Given the description of an element on the screen output the (x, y) to click on. 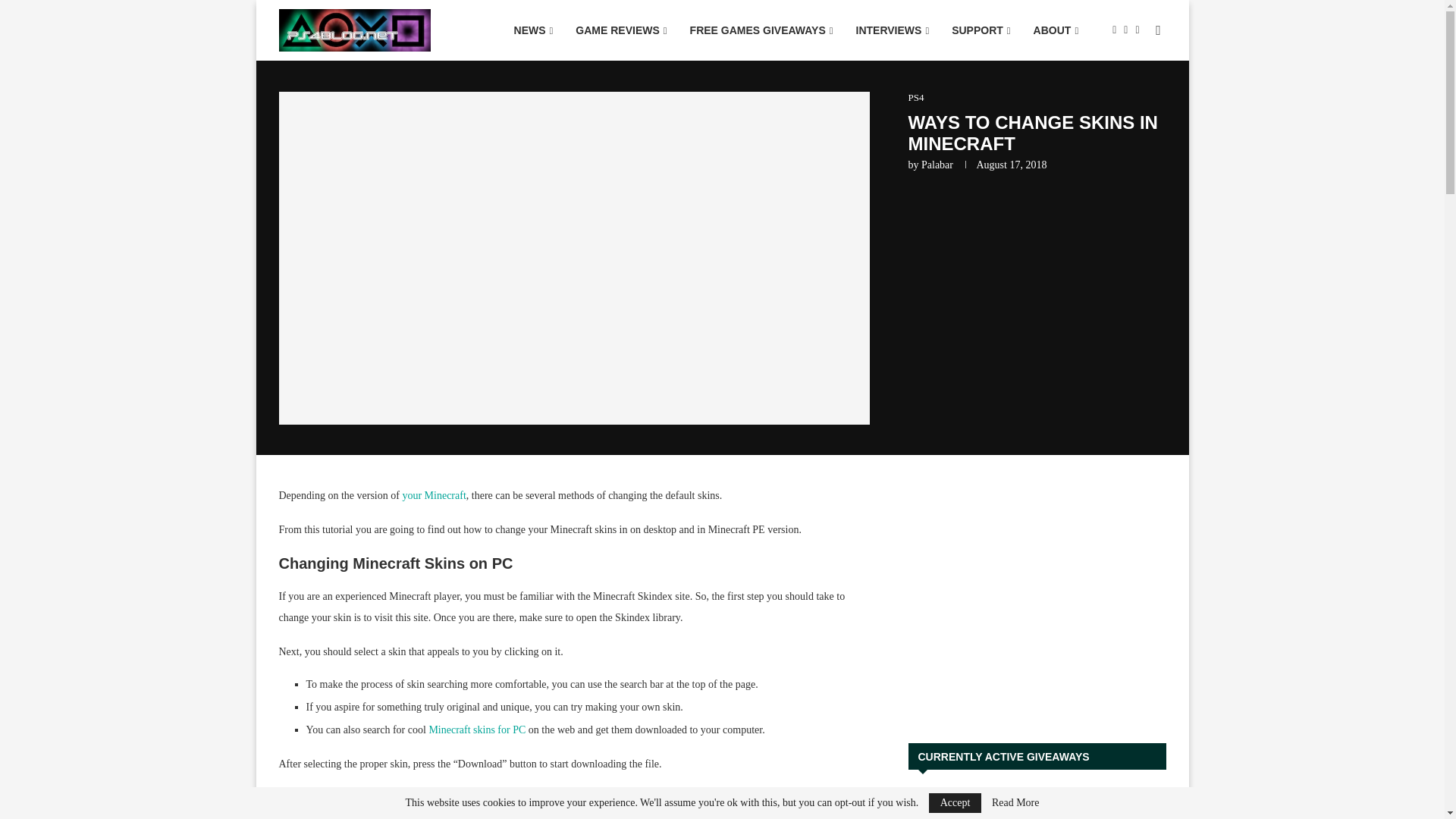
INTERVIEWS (892, 30)
FREE GAMES GIVEAWAYS (761, 30)
GAME REVIEWS (621, 30)
NEWS (533, 30)
